Given the description of an element on the screen output the (x, y) to click on. 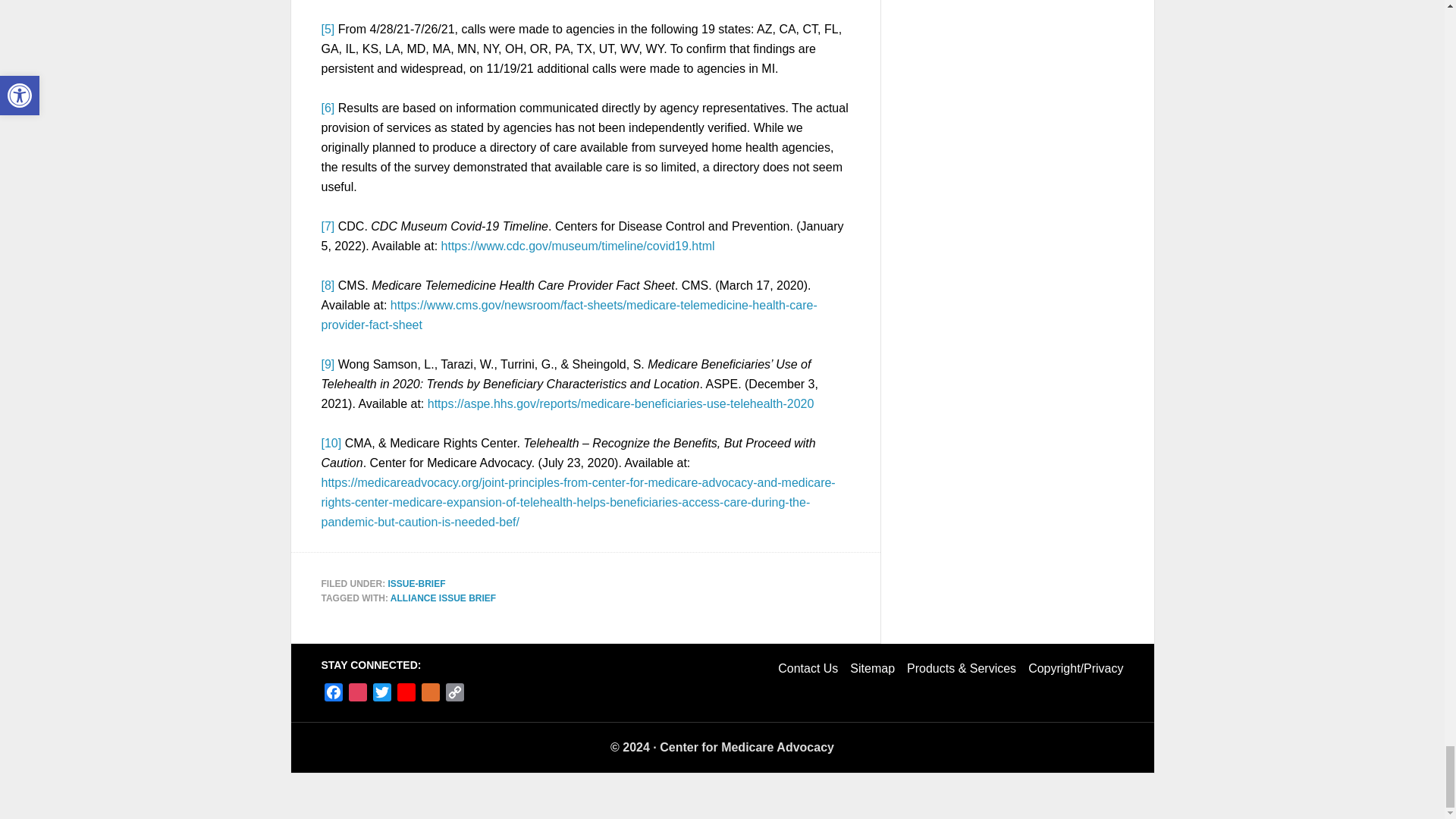
Facebook (333, 694)
RSS Feed (430, 694)
Copy Link (454, 694)
Twitter (381, 694)
YouTube (406, 694)
Instagram (357, 694)
